Given the description of an element on the screen output the (x, y) to click on. 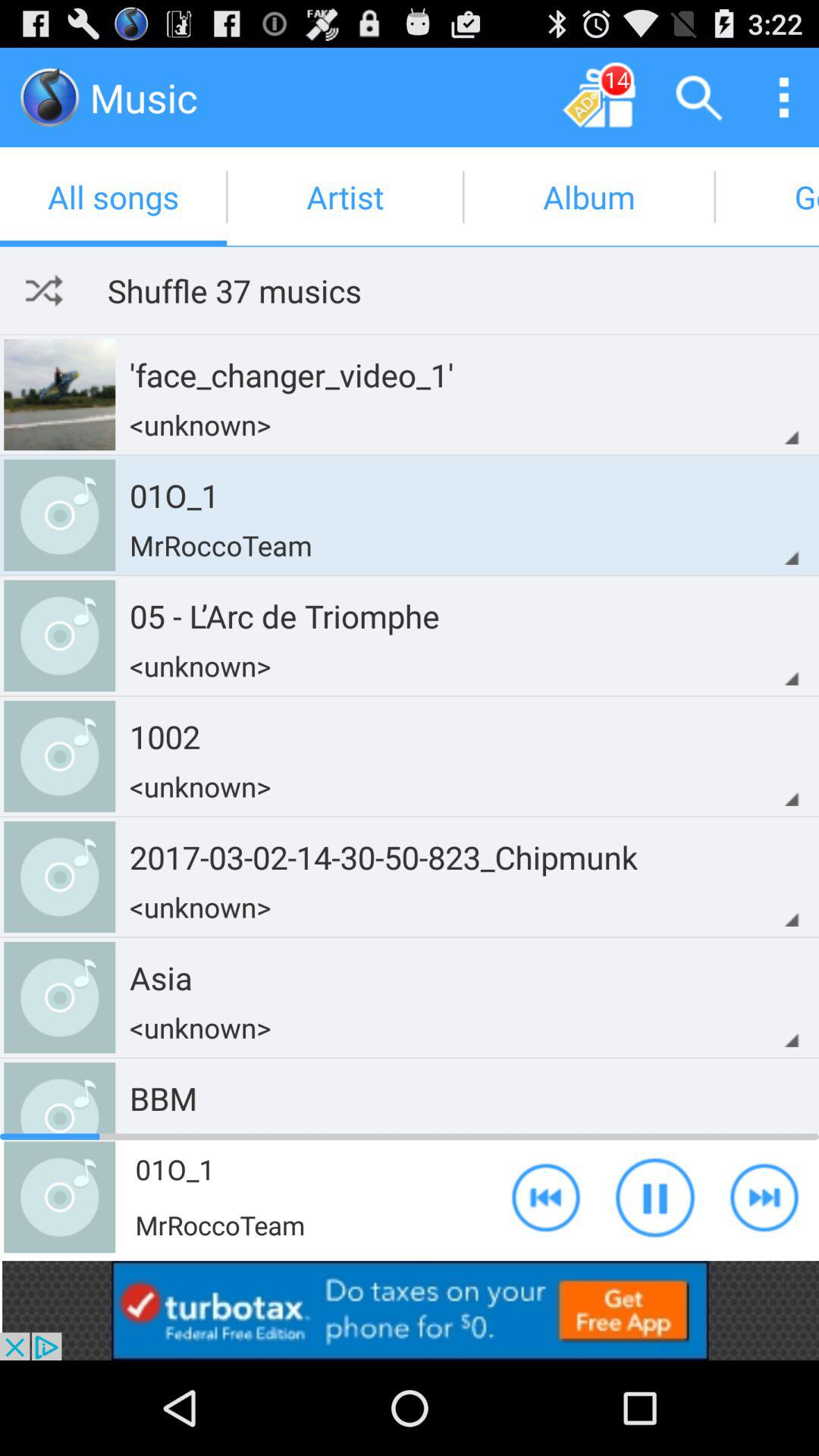
rewind (545, 1196)
